Given the description of an element on the screen output the (x, y) to click on. 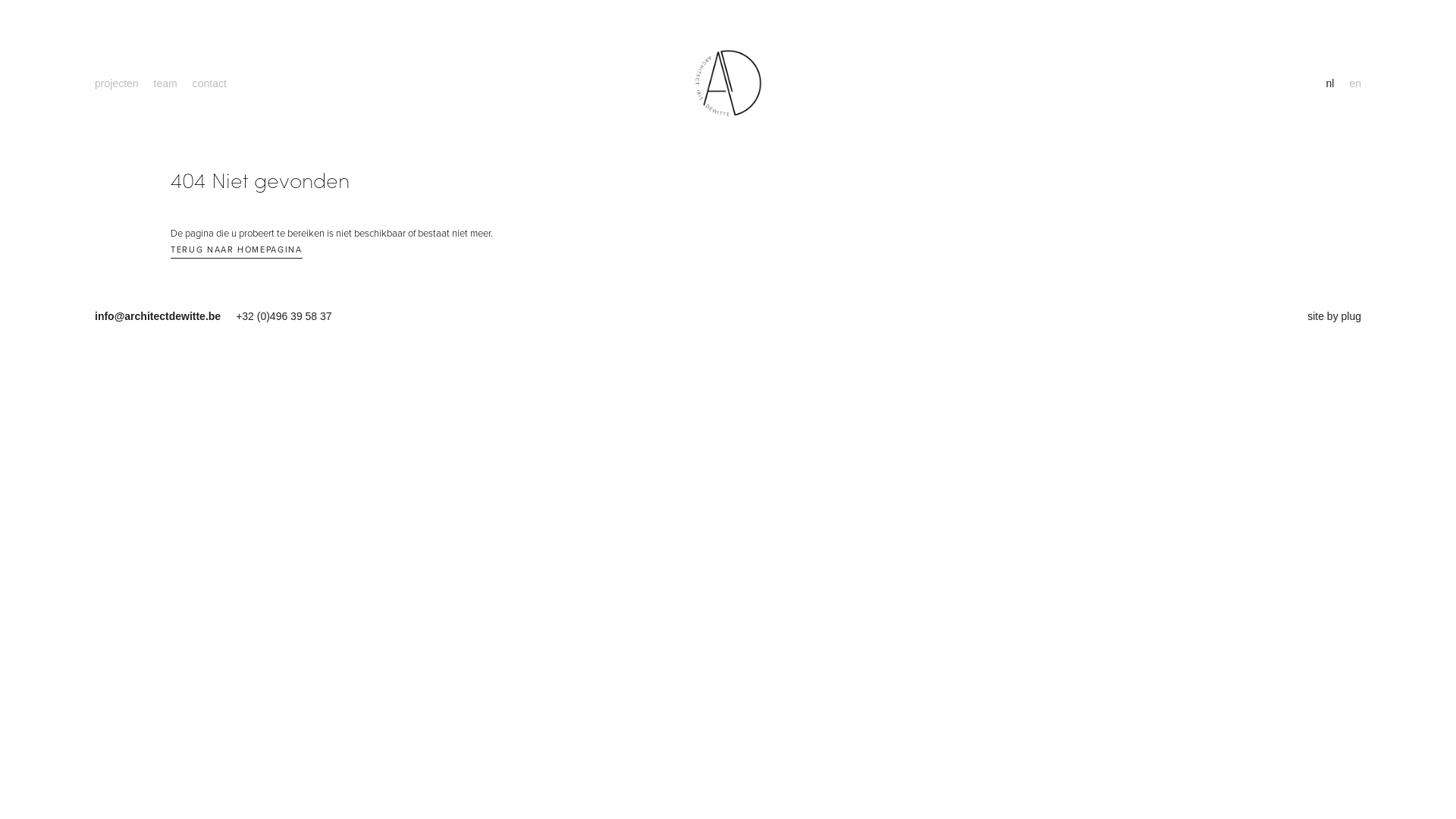
TERUG NAAR HOMEPAGINA Element type: text (236, 251)
projecten Element type: text (116, 83)
site by plug Element type: text (1334, 315)
nl Element type: text (1330, 83)
+32 (0)496 39 58 37 Element type: text (283, 315)
team Element type: text (165, 83)
info@architectdewitte.be Element type: text (164, 315)
en Element type: text (1355, 83)
contact Element type: text (209, 83)
